Given the description of an element on the screen output the (x, y) to click on. 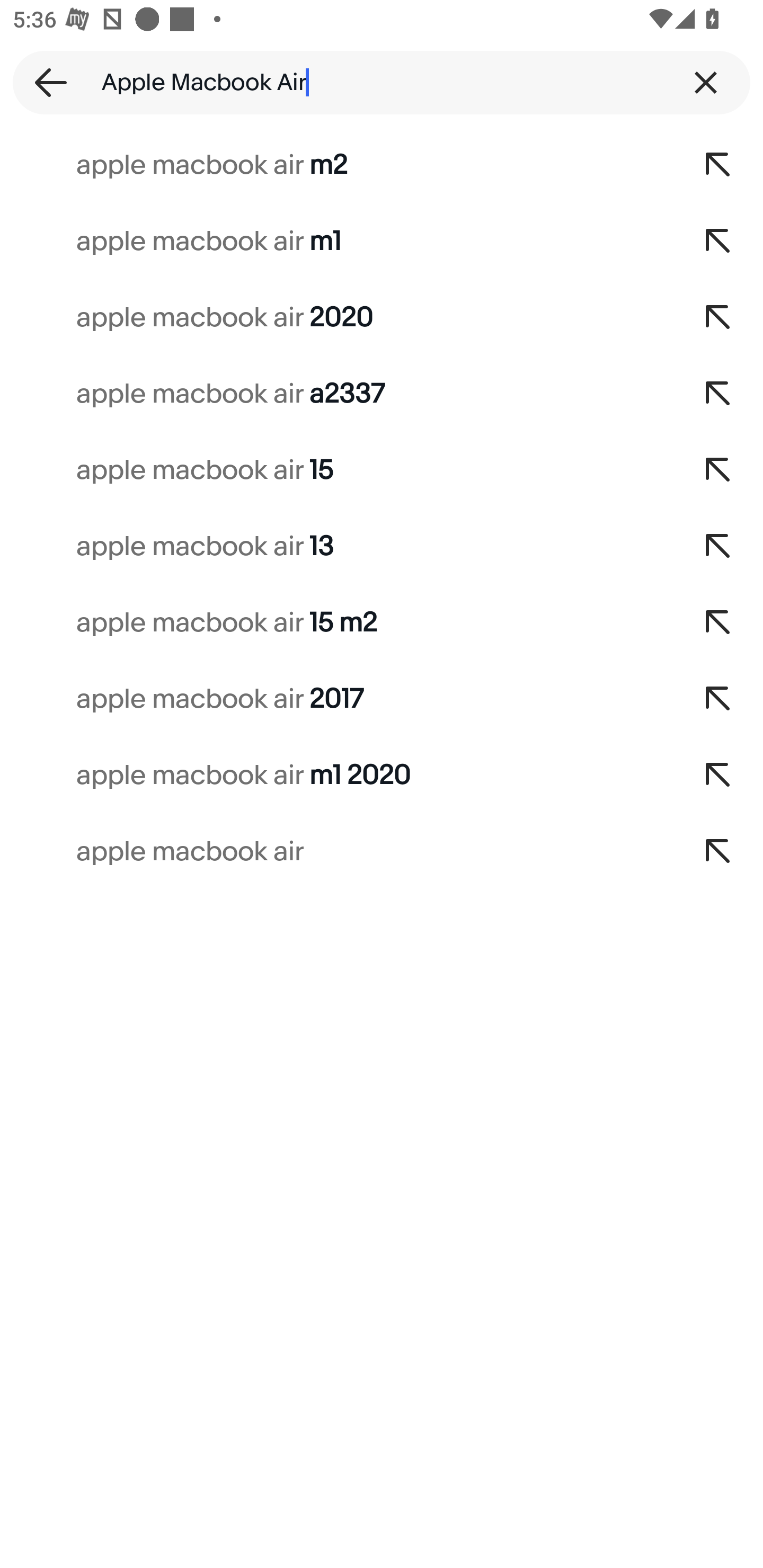
Back (44, 82)
Clear query (705, 82)
Apple Macbook Air (381, 82)
apple macbook air m2 (336, 165)
Add to search query,apple macbook air m2 (718, 165)
apple macbook air m1 (336, 241)
Add to search query,apple macbook air m1 (718, 241)
apple macbook air 2020 (336, 317)
Add to search query,apple macbook air 2020 (718, 317)
apple macbook air a2337 (336, 393)
Add to search query,apple macbook air a2337 (718, 393)
apple macbook air 15 (336, 470)
Add to search query,apple macbook air 15 (718, 470)
apple macbook air 13 (336, 546)
Add to search query,apple macbook air 13 (718, 546)
apple macbook air 15 m2 (336, 622)
Add to search query,apple macbook air 15 m2 (718, 622)
apple macbook air 2017 (336, 698)
Add to search query,apple macbook air 2017 (718, 698)
apple macbook air m1 2020 (336, 774)
Add to search query,apple macbook air m1 2020 (718, 774)
apple macbook air (336, 851)
Add to search query,apple macbook air (718, 851)
